Given the description of an element on the screen output the (x, y) to click on. 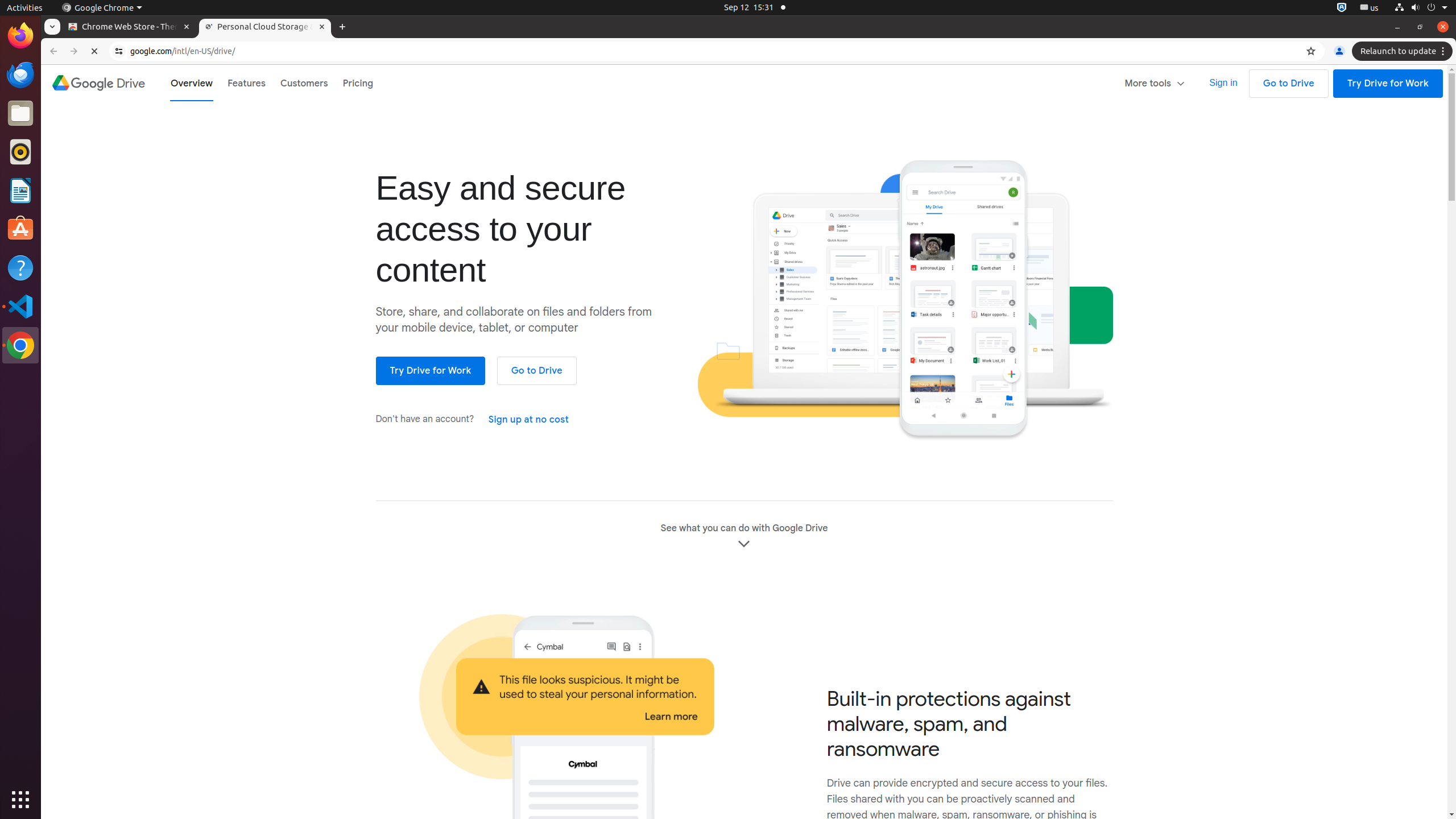
Bookmark this tab Element type: push-button (1310, 51)
View site information Element type: push-button (118, 51)
Forward Element type: push-button (73, 50)
Personal Cloud Storage & File Sharing Platform - Google Element type: page-tab (264, 26)
Pricing Element type: link (357, 82)
